Given the description of an element on the screen output the (x, y) to click on. 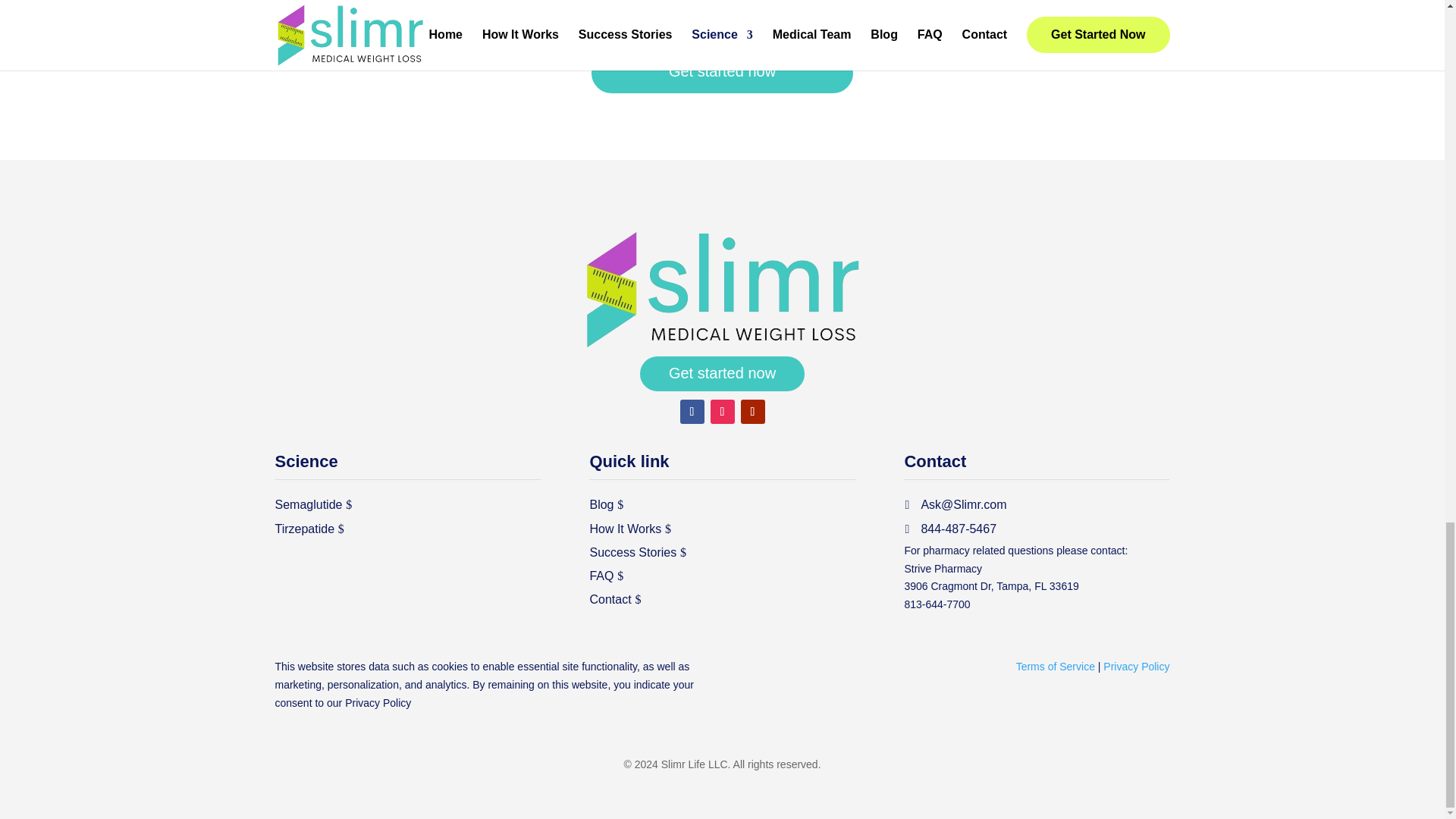
Semaglutide (308, 504)
Get started now (722, 73)
Privacy Policy (377, 702)
Follow on Facebook (691, 411)
Blog (600, 504)
How It Works (625, 528)
Contact (609, 598)
Get started now (722, 373)
Tirzepatide (304, 528)
Success Stories (633, 552)
Terms of Service (1055, 666)
Follow on Youtube (751, 411)
FAQ (600, 575)
Follow on Instagram (721, 411)
844-487-5467 (949, 528)
